Given the description of an element on the screen output the (x, y) to click on. 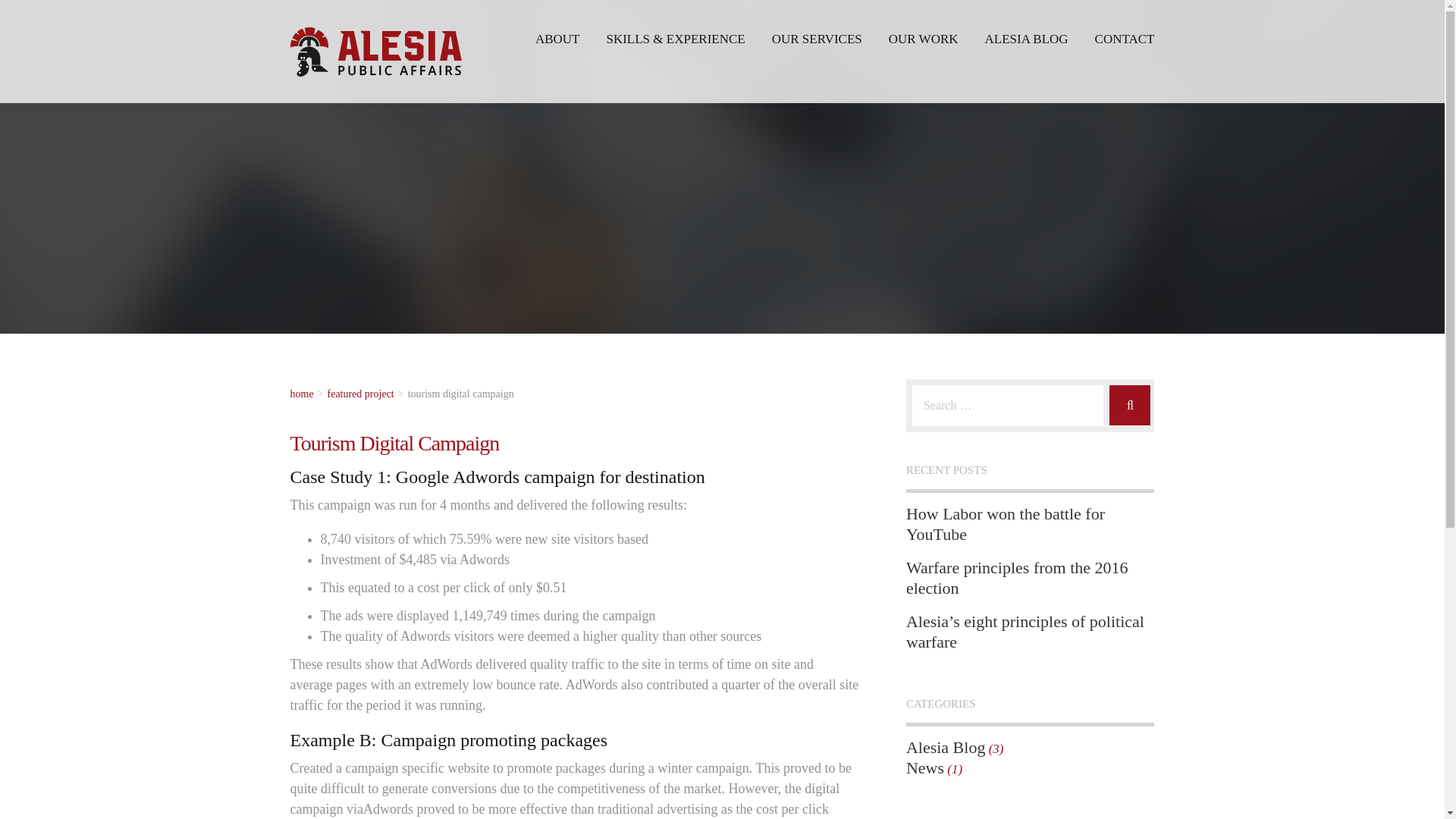
ALESIA BLOG (1026, 39)
CONTACT (1124, 39)
ABOUT (557, 39)
Search (1136, 396)
Search (1136, 396)
OUR SERVICES (816, 39)
OUR WORK (923, 39)
